Given the description of an element on the screen output the (x, y) to click on. 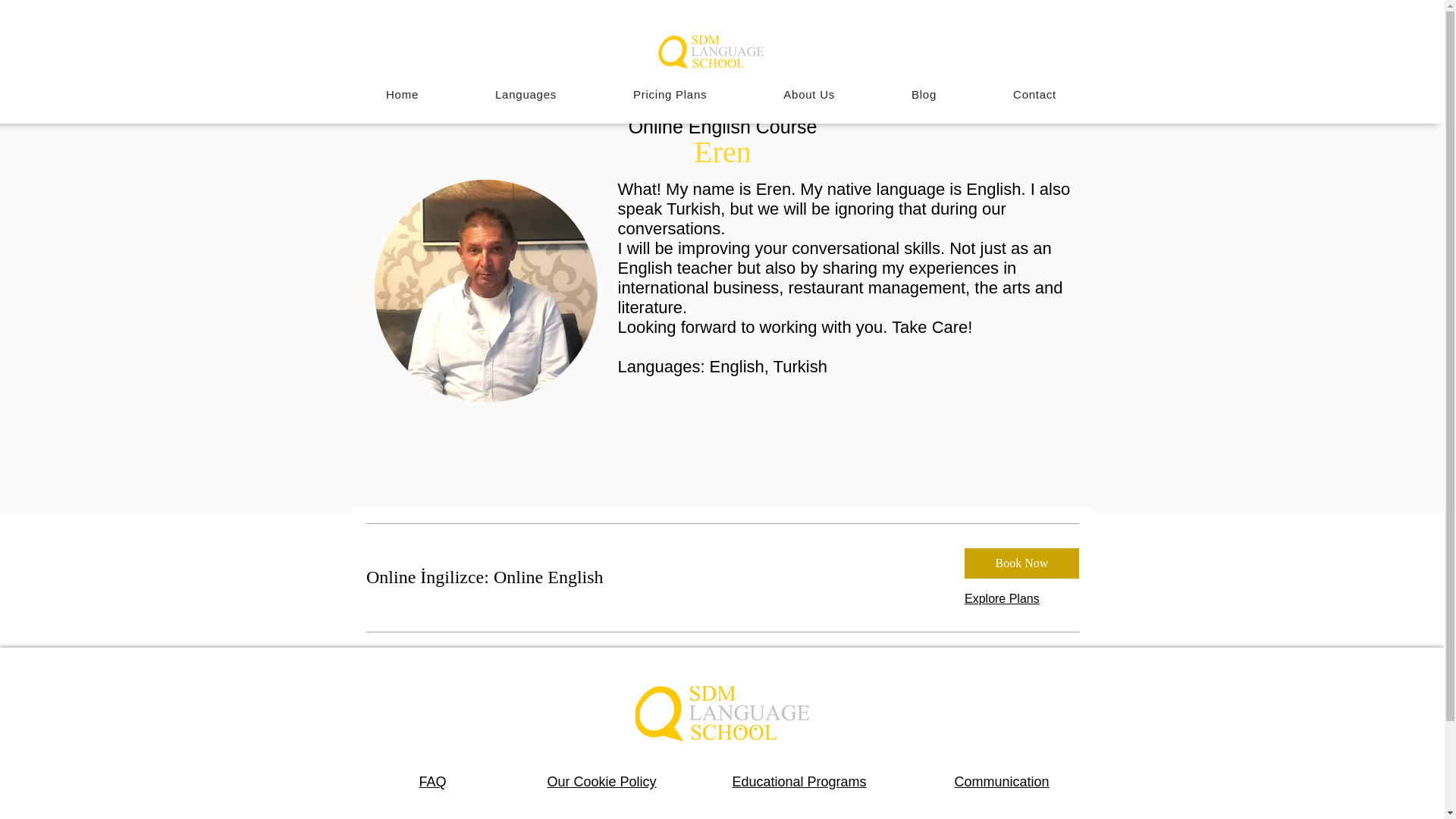
About Us (809, 94)
Contact (1035, 94)
Educational Programs (799, 781)
Explore Plans (1001, 598)
Our Cookie Policy (601, 781)
Blog (924, 94)
Book Now (1020, 562)
Communication (1000, 781)
FAQ (432, 781)
Home (401, 94)
